Given the description of an element on the screen output the (x, y) to click on. 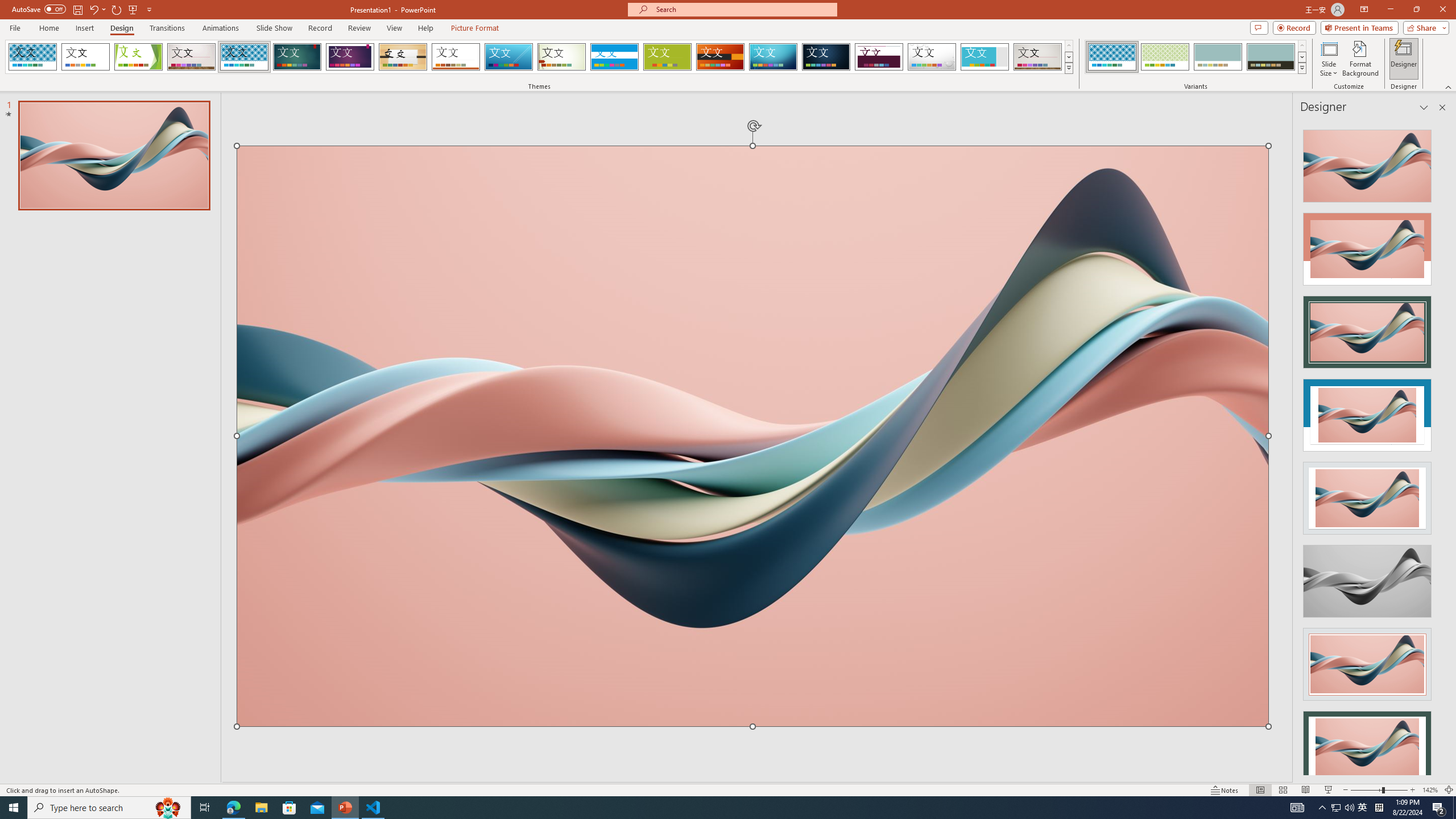
Wavy 3D art (752, 435)
Droplet (931, 56)
Facet (138, 56)
Basis (667, 56)
Slide Size (1328, 58)
